Given the description of an element on the screen output the (x, y) to click on. 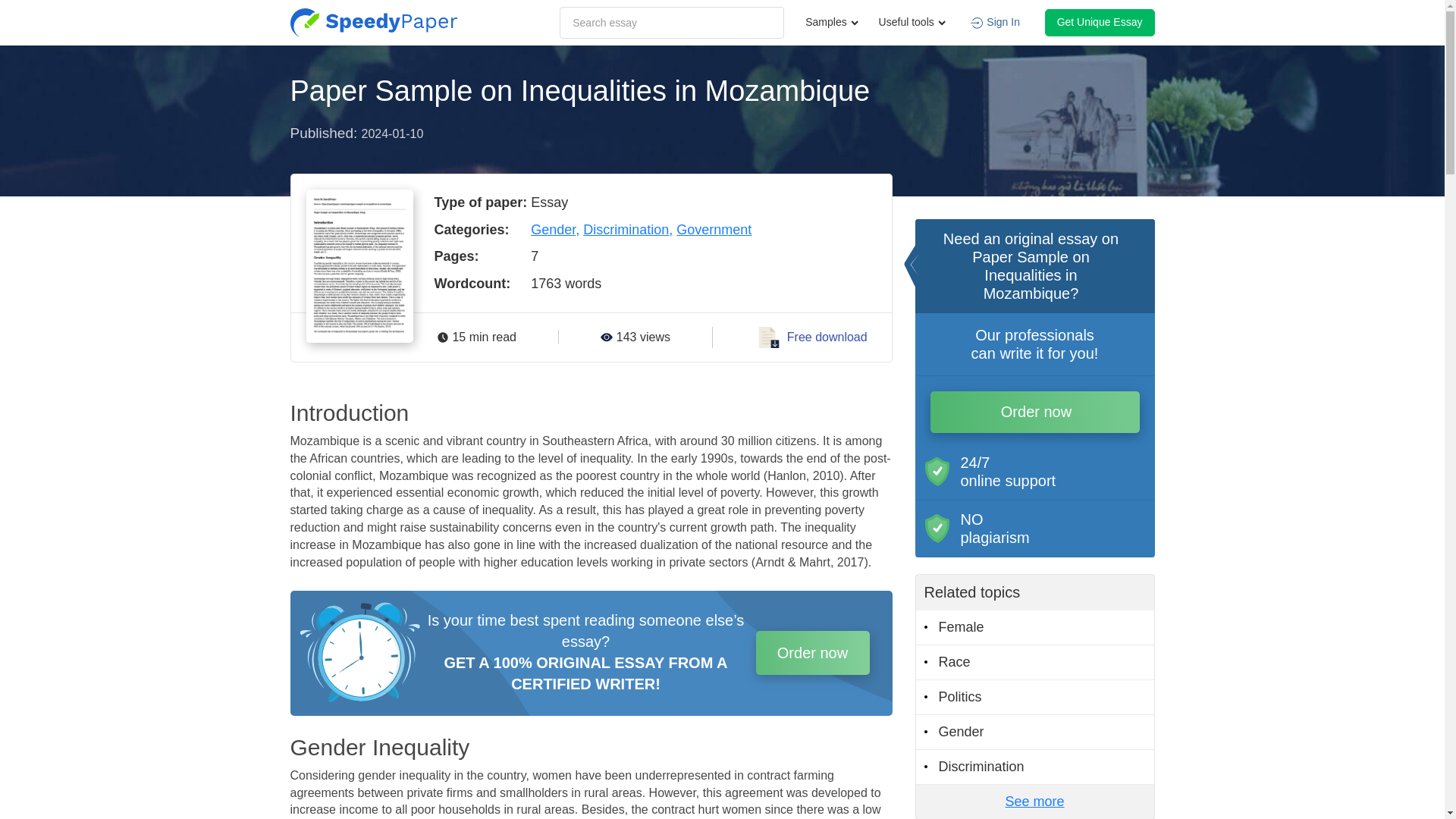
Get Unique Essay (1099, 22)
